Given the description of an element on the screen output the (x, y) to click on. 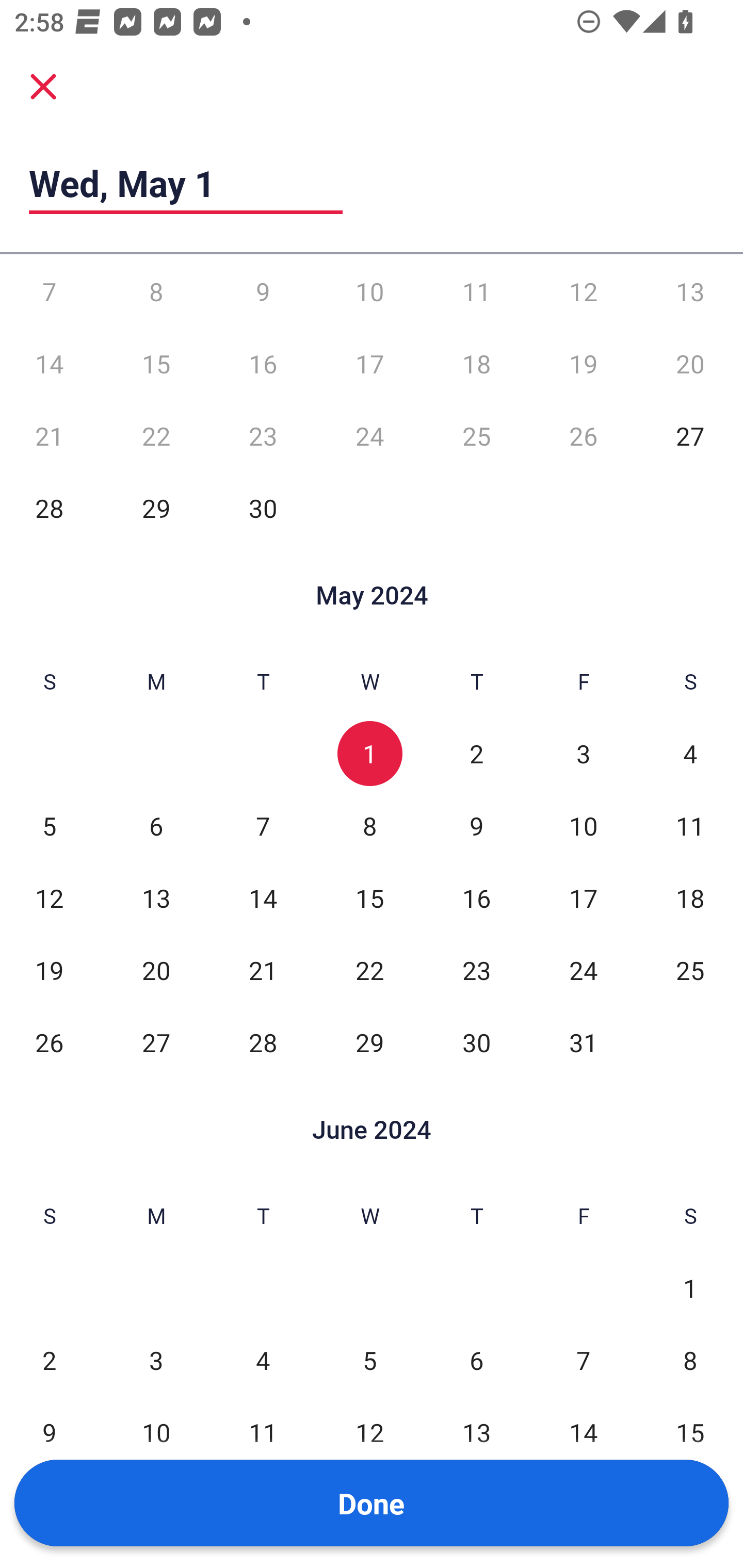
Cancel (43, 86)
Wed, May 1 (185, 182)
1 Mon, Apr 1, Not Selected (156, 254)
2 Tue, Apr 2, Not Selected (263, 254)
3 Wed, Apr 3, Not Selected (369, 254)
4 Thu, Apr 4, Not Selected (476, 254)
5 Fri, Apr 5, Not Selected (583, 254)
6 Sat, Apr 6, Not Selected (690, 254)
7 Sun, Apr 7, Not Selected (49, 291)
8 Mon, Apr 8, Not Selected (156, 291)
9 Tue, Apr 9, Not Selected (263, 291)
10 Wed, Apr 10, Not Selected (369, 291)
11 Thu, Apr 11, Not Selected (476, 291)
12 Fri, Apr 12, Not Selected (583, 291)
13 Sat, Apr 13, Not Selected (690, 291)
14 Sun, Apr 14, Not Selected (49, 363)
15 Mon, Apr 15, Not Selected (156, 363)
16 Tue, Apr 16, Not Selected (263, 363)
17 Wed, Apr 17, Not Selected (369, 363)
18 Thu, Apr 18, Not Selected (476, 363)
19 Fri, Apr 19, Not Selected (583, 363)
20 Sat, Apr 20, Not Selected (690, 363)
21 Sun, Apr 21, Not Selected (49, 435)
22 Mon, Apr 22, Not Selected (156, 435)
23 Tue, Apr 23, Not Selected (263, 435)
24 Wed, Apr 24, Not Selected (369, 435)
25 Thu, Apr 25, Not Selected (476, 435)
26 Fri, Apr 26, Not Selected (583, 435)
27 Sat, Apr 27, Not Selected (690, 435)
28 Sun, Apr 28, Not Selected (49, 507)
29 Mon, Apr 29, Not Selected (156, 507)
30 Tue, Apr 30, Not Selected (263, 507)
1 Wed, May 1, Selected (369, 754)
2 Thu, May 2, Not Selected (476, 754)
3 Fri, May 3, Not Selected (583, 754)
4 Sat, May 4, Not Selected (690, 754)
5 Sun, May 5, Not Selected (49, 826)
6 Mon, May 6, Not Selected (156, 826)
7 Tue, May 7, Not Selected (263, 826)
8 Wed, May 8, Not Selected (369, 826)
9 Thu, May 9, Not Selected (476, 826)
10 Fri, May 10, Not Selected (583, 826)
11 Sat, May 11, Not Selected (690, 826)
12 Sun, May 12, Not Selected (49, 898)
13 Mon, May 13, Not Selected (156, 898)
14 Tue, May 14, Not Selected (263, 898)
15 Wed, May 15, Not Selected (369, 898)
16 Thu, May 16, Not Selected (476, 898)
17 Fri, May 17, Not Selected (583, 898)
18 Sat, May 18, Not Selected (690, 898)
19 Sun, May 19, Not Selected (49, 970)
20 Mon, May 20, Not Selected (156, 970)
21 Tue, May 21, Not Selected (263, 970)
22 Wed, May 22, Not Selected (369, 970)
23 Thu, May 23, Not Selected (476, 970)
24 Fri, May 24, Not Selected (583, 970)
25 Sat, May 25, Not Selected (690, 970)
26 Sun, May 26, Not Selected (49, 1042)
27 Mon, May 27, Not Selected (156, 1042)
28 Tue, May 28, Not Selected (263, 1042)
29 Wed, May 29, Not Selected (369, 1042)
30 Thu, May 30, Not Selected (476, 1042)
31 Fri, May 31, Not Selected (583, 1042)
1 Sat, Jun 1, Not Selected (690, 1287)
2 Sun, Jun 2, Not Selected (49, 1359)
3 Mon, Jun 3, Not Selected (156, 1359)
4 Tue, Jun 4, Not Selected (263, 1359)
5 Wed, Jun 5, Not Selected (369, 1359)
6 Thu, Jun 6, Not Selected (476, 1359)
7 Fri, Jun 7, Not Selected (583, 1359)
8 Sat, Jun 8, Not Selected (690, 1359)
9 Sun, Jun 9, Not Selected (49, 1432)
10 Mon, Jun 10, Not Selected (156, 1432)
11 Tue, Jun 11, Not Selected (263, 1432)
12 Wed, Jun 12, Not Selected (369, 1432)
13 Thu, Jun 13, Not Selected (476, 1432)
14 Fri, Jun 14, Not Selected (583, 1432)
15 Sat, Jun 15, Not Selected (690, 1432)
Done Button Done (371, 1502)
